Given the description of an element on the screen output the (x, y) to click on. 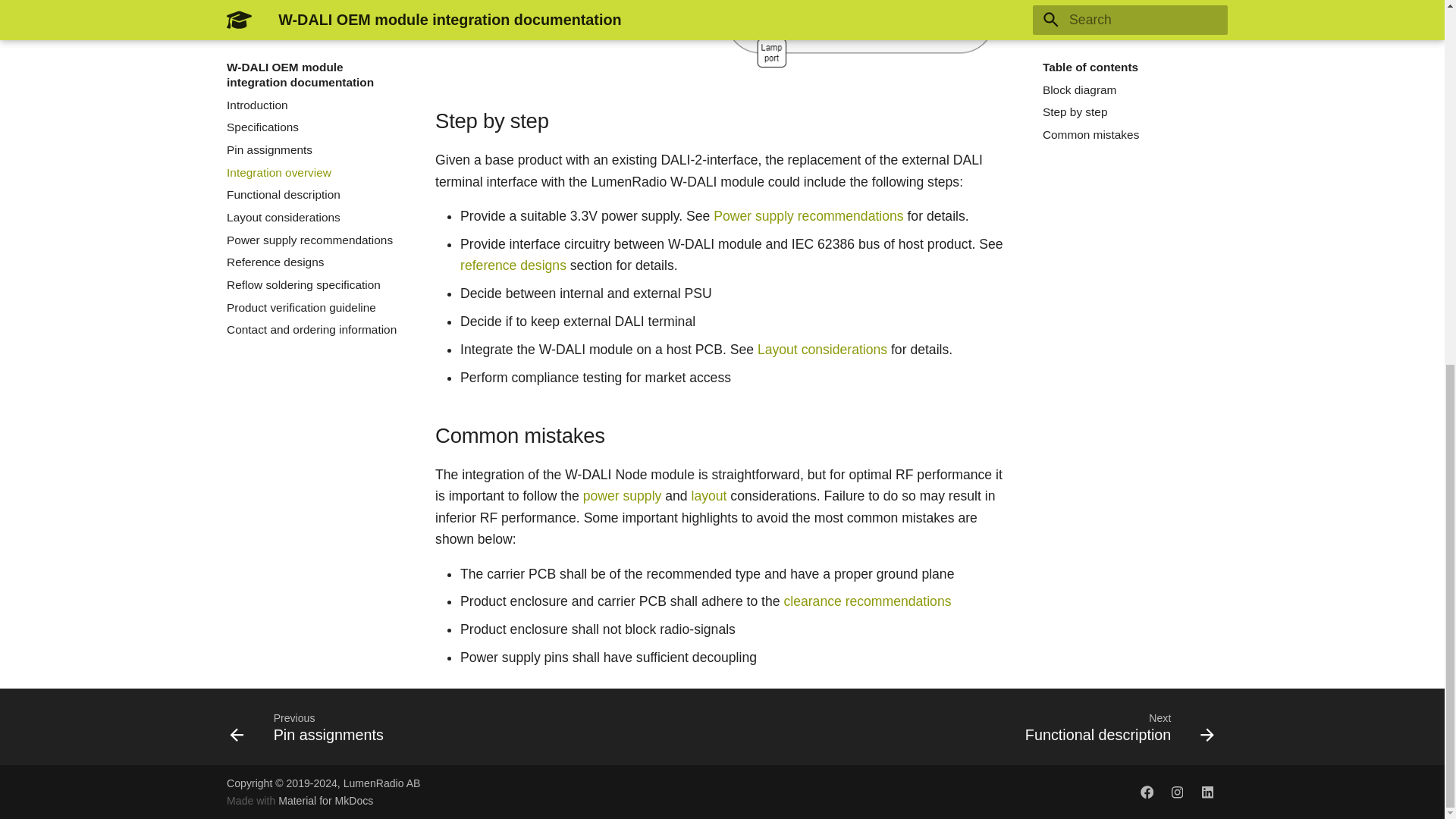
clearance recommendations (311, 726)
www.linkedin.com (866, 601)
Power supply recommendations (1207, 791)
reference designs (807, 215)
facebook.com (1115, 726)
Layout considerations (513, 264)
Material for MkDocs (1147, 791)
